Given the description of an element on the screen output the (x, y) to click on. 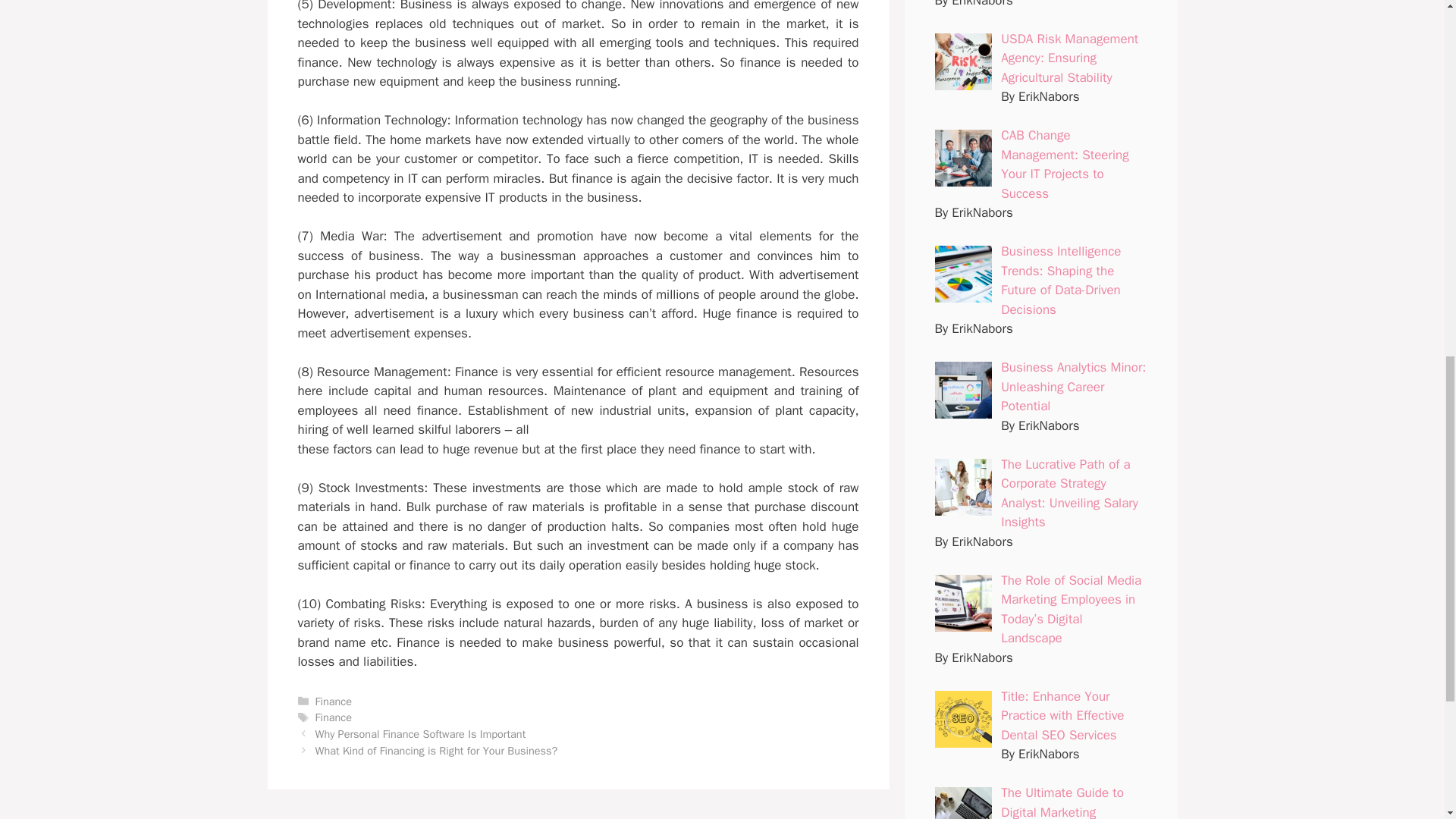
USDA Risk Management Agency: Ensuring Agricultural Stability (1069, 57)
CAB Change Management: Steering Your IT Projects to Success (1064, 164)
Finance (333, 716)
The Ultimate Guide to Digital Marketing Packages (1062, 801)
What Kind of Financing is Right for Your Business? (436, 750)
Why Personal Finance Software Is Important (420, 734)
Business Analytics Minor: Unleashing Career Potential (1073, 386)
Finance (333, 701)
